Given the description of an element on the screen output the (x, y) to click on. 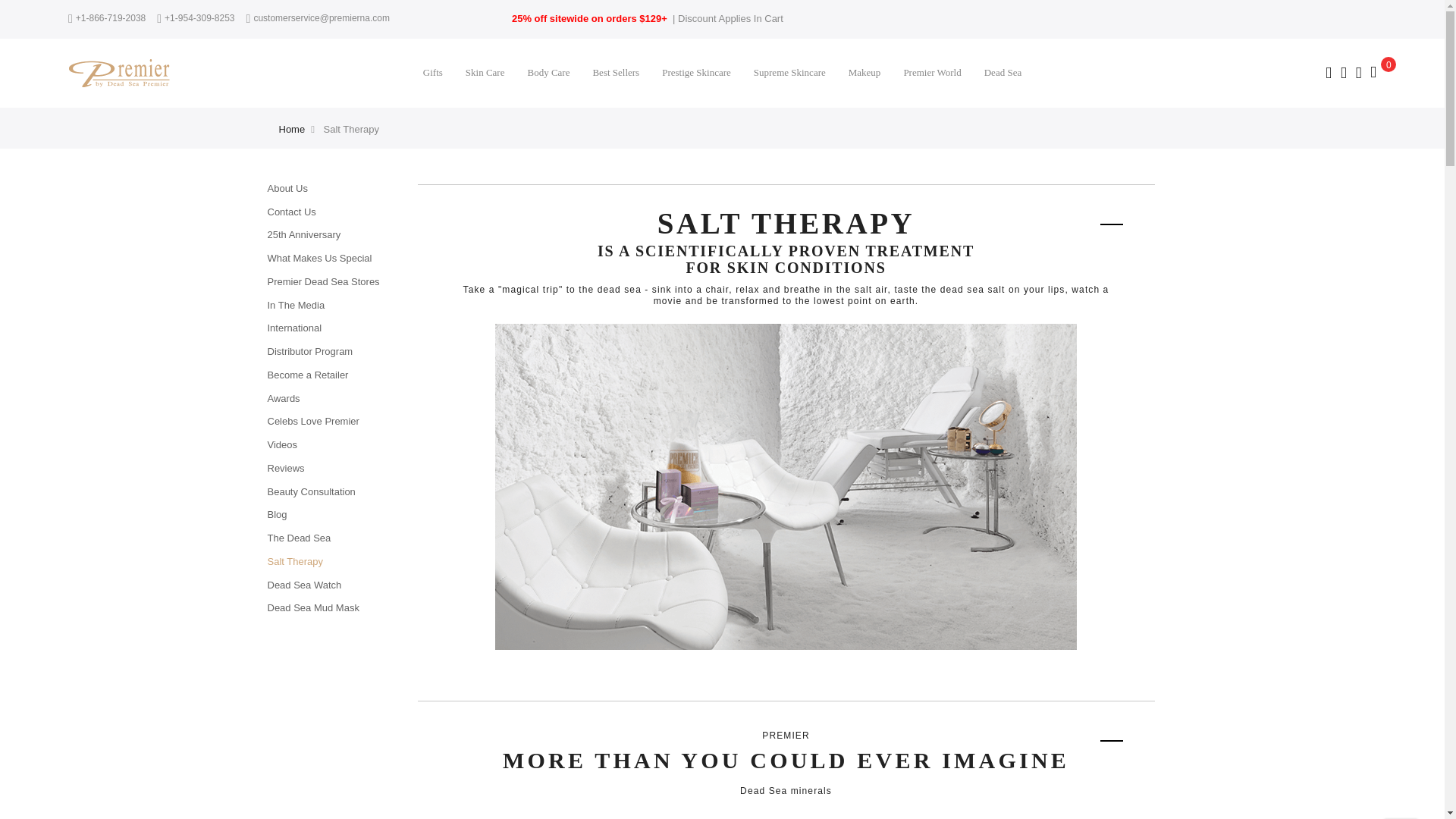
Prestige Skincare (696, 63)
Body Care (547, 63)
Skin Care (485, 63)
Best Sellers (615, 63)
Go to Home Page (292, 129)
